Given the description of an element on the screen output the (x, y) to click on. 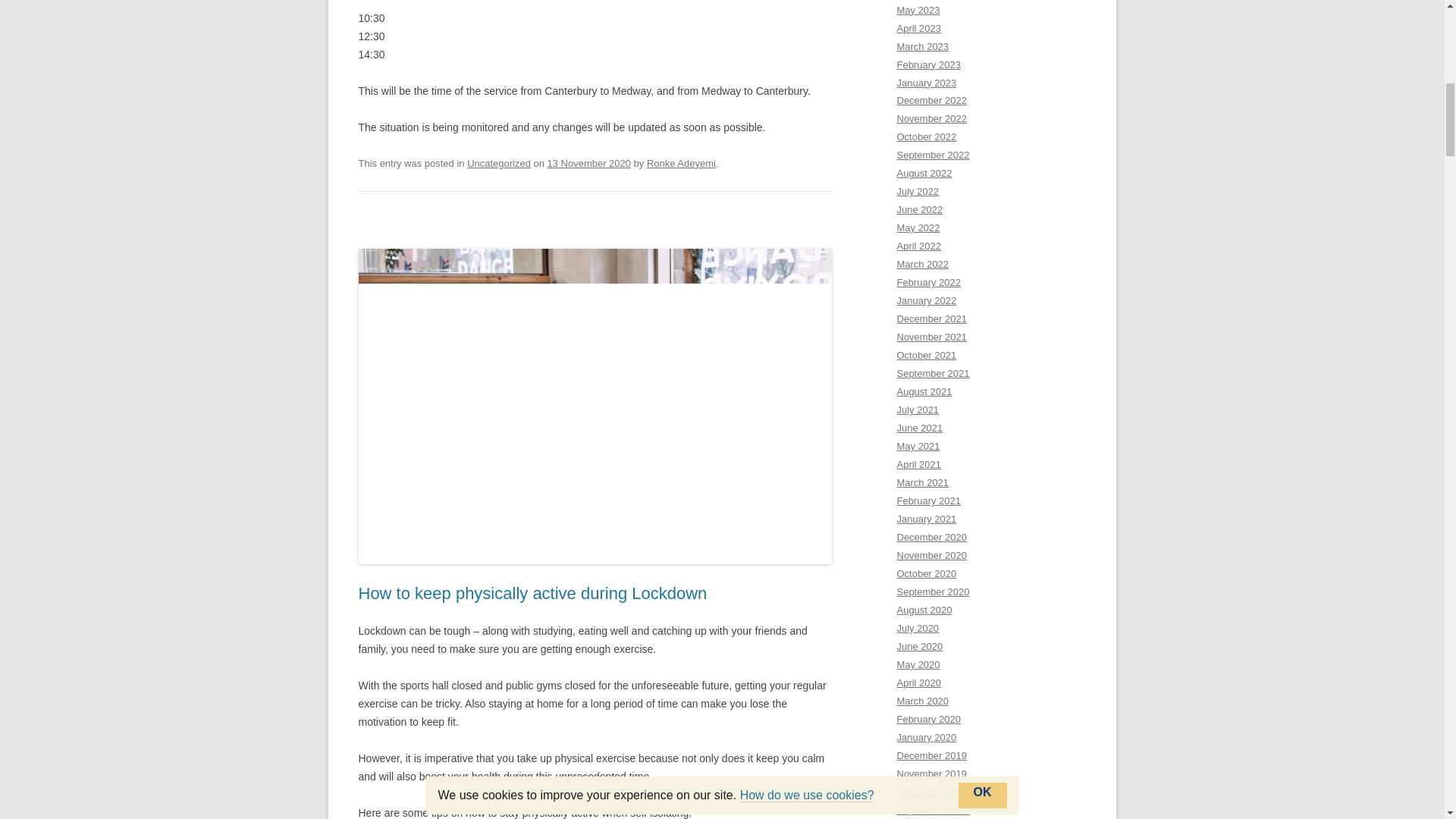
Uncategorized (499, 163)
13 November 2020 (588, 163)
10:47 am (588, 163)
Ronke Adeyemi (681, 163)
How to keep physically active during Lockdown (532, 592)
View all posts by Ronke Adeyemi (681, 163)
